Given the description of an element on the screen output the (x, y) to click on. 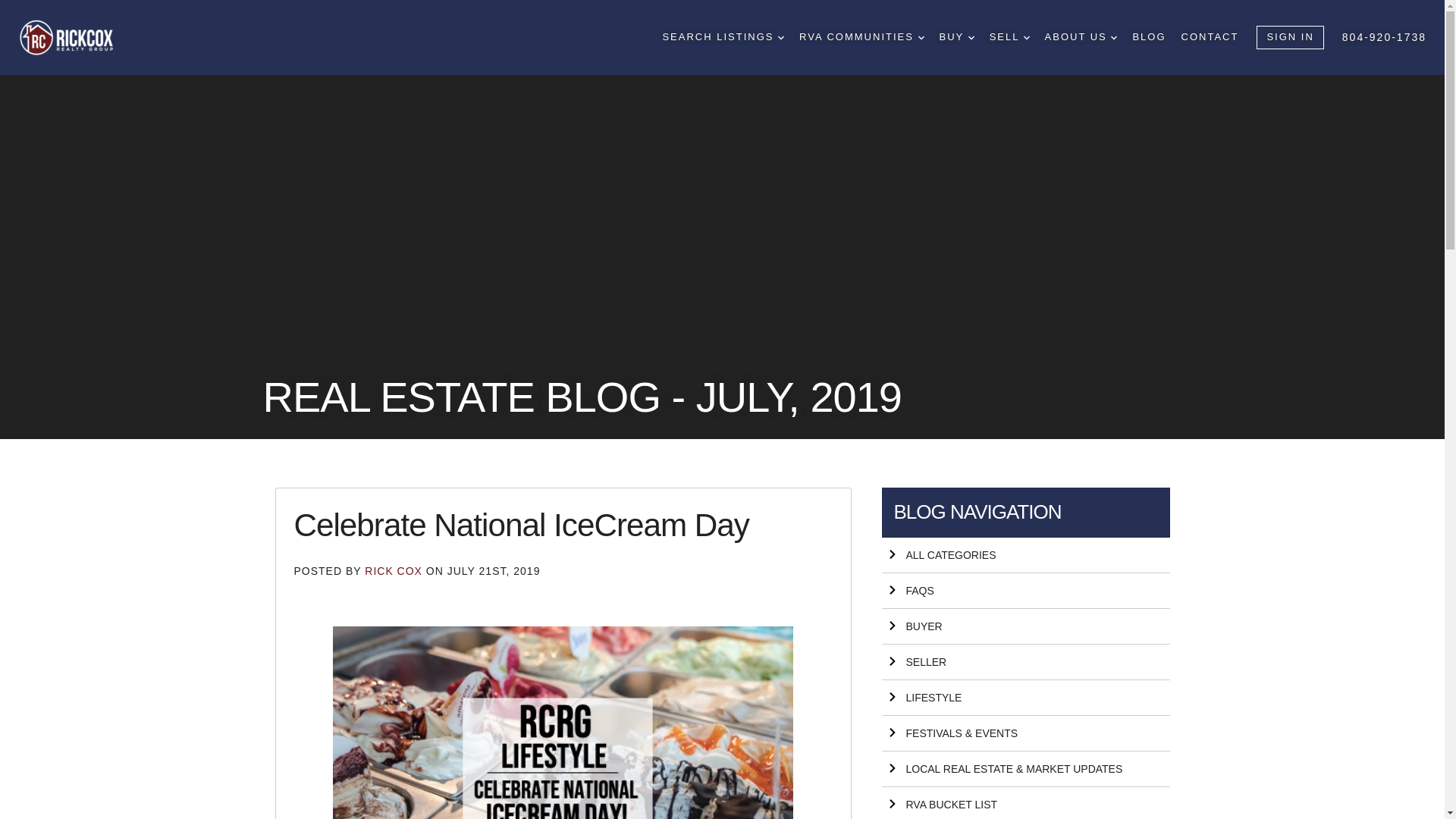
DROPDOWN ARROW (1026, 37)
SELL DROPDOWN ARROW (1009, 37)
ABOUT US DROPDOWN ARROW (1081, 37)
DROPDOWN ARROW (1113, 37)
DROPDOWN ARROW (780, 37)
DROPDOWN ARROW (971, 37)
SEARCH LISTINGS DROPDOWN ARROW (723, 37)
DROPDOWN ARROW (921, 37)
RVA COMMUNITIES DROPDOWN ARROW (861, 37)
BUY DROPDOWN ARROW (956, 37)
